Given the description of an element on the screen output the (x, y) to click on. 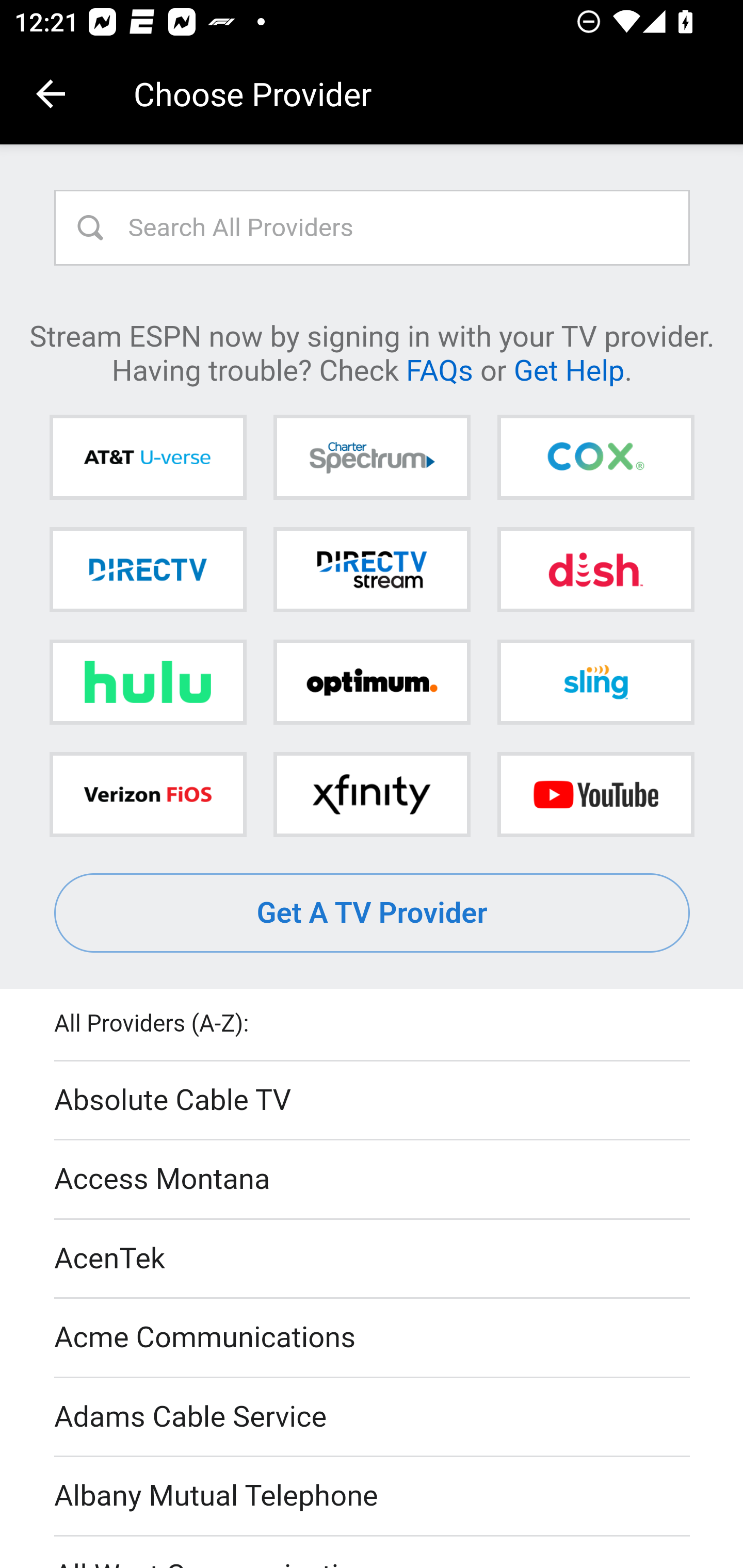
Navigate up (50, 93)
FAQs (438, 369)
Get Help (569, 369)
AT&T U-verse (147, 457)
Charter Spectrum (371, 457)
Cox (595, 457)
DIRECTV (147, 568)
DIRECTV STREAM (371, 568)
DISH (595, 568)
Hulu (147, 681)
Optimum (371, 681)
Sling TV (595, 681)
Verizon FiOS (147, 793)
Xfinity (371, 793)
YouTube TV (595, 793)
Get A TV Provider (372, 912)
Absolute Cable TV (372, 1100)
Access Montana (372, 1178)
AcenTek (372, 1258)
Acme Communications (372, 1338)
Adams Cable Service (372, 1417)
Albany Mutual Telephone (372, 1497)
